Given the description of an element on the screen output the (x, y) to click on. 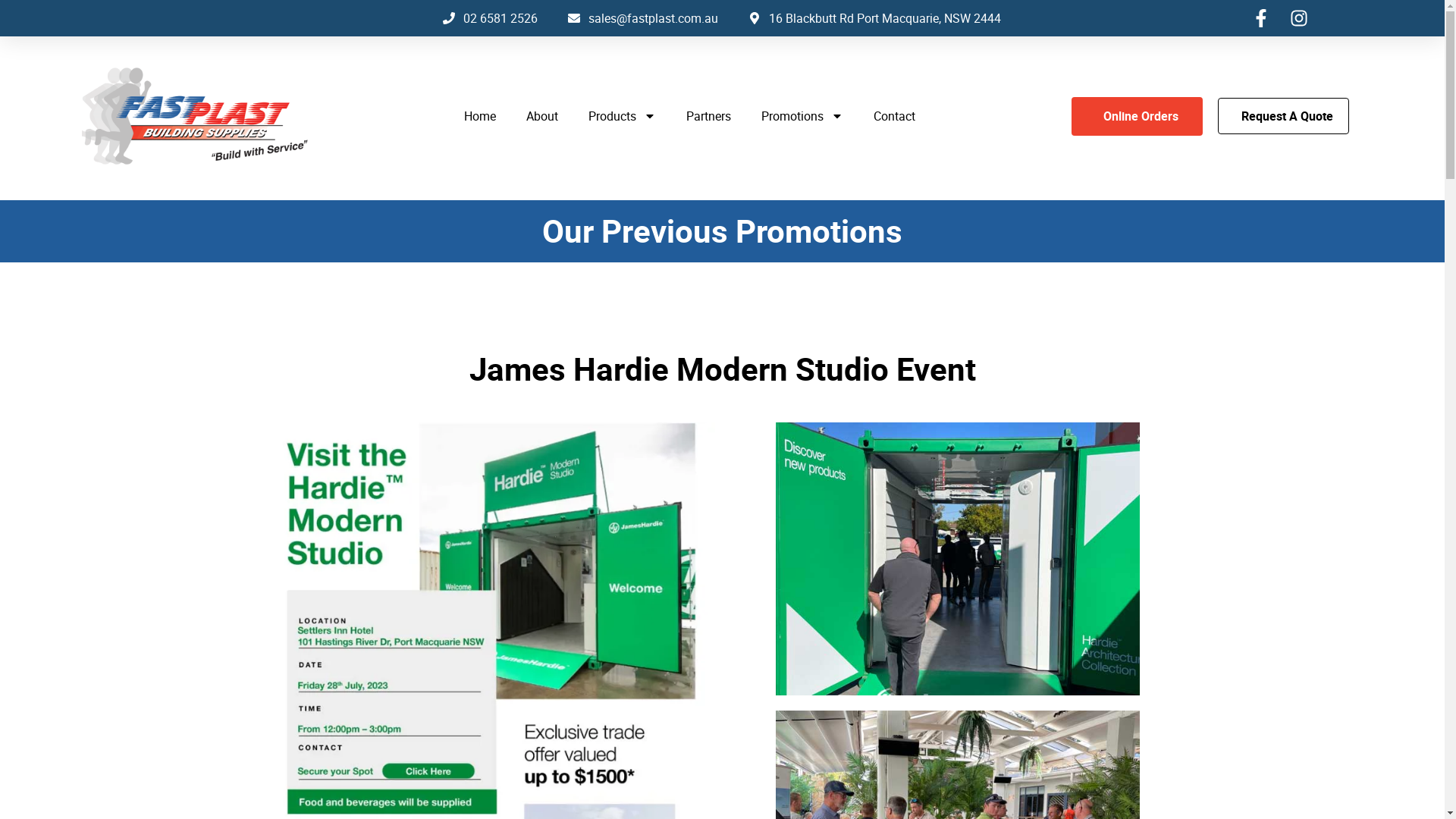
Home Element type: text (479, 115)
Products Element type: text (622, 115)
Partners Element type: text (708, 115)
Online Orders Element type: text (1136, 116)
02 6581 2526 Element type: text (489, 18)
Request A Quote Element type: text (1283, 115)
16 Blackbutt Rd Port Macquarie, NSW 2444 Element type: text (874, 18)
Promotions Element type: text (802, 115)
sales@fastplast.com.au Element type: text (642, 18)
About Element type: text (542, 115)
Contact Element type: text (894, 115)
